Given the description of an element on the screen output the (x, y) to click on. 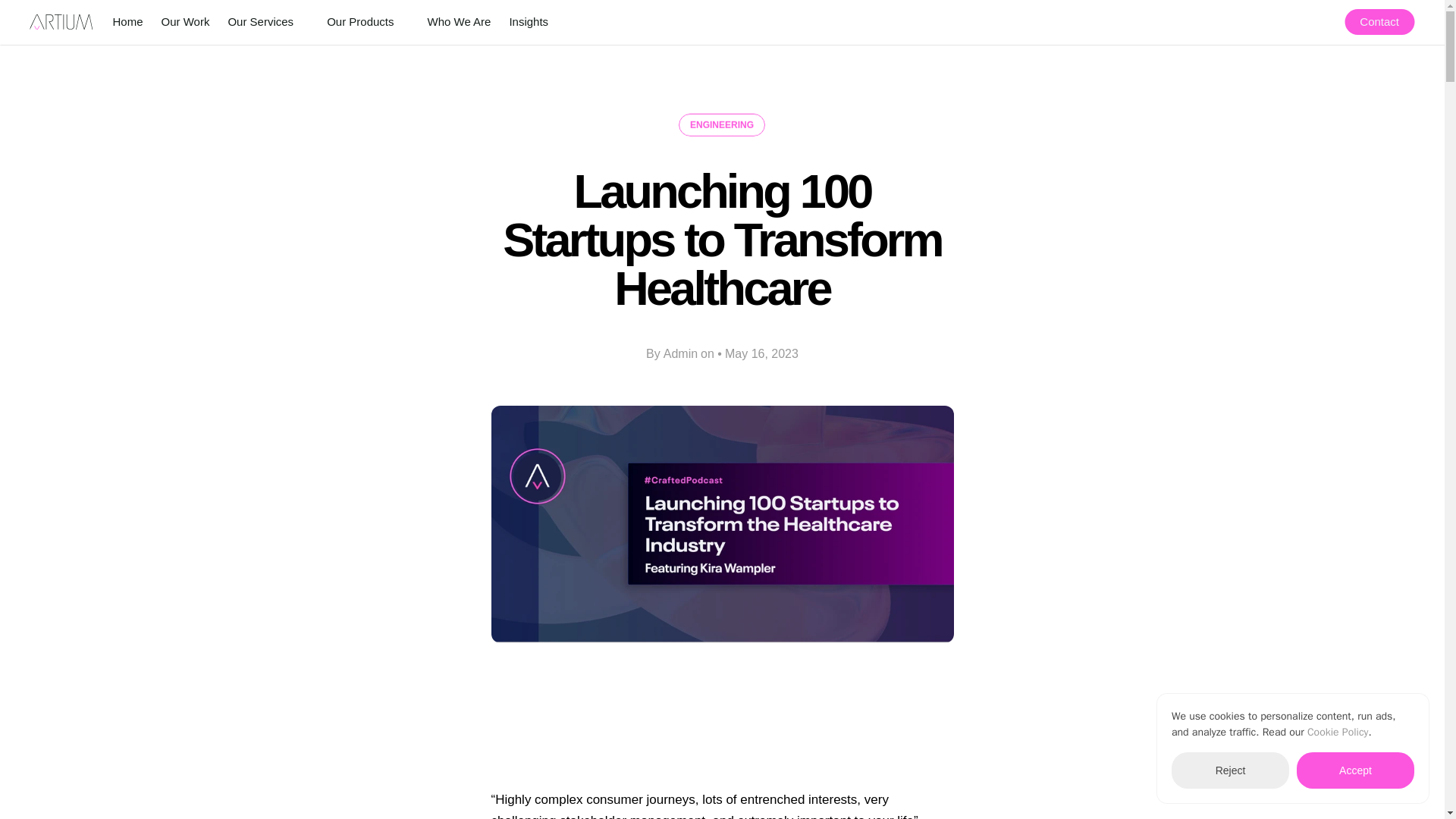
ENGINEERING (721, 124)
Contact (1378, 22)
Accept (1355, 770)
Home (127, 21)
Reject (1230, 770)
Insights (528, 21)
Who We Are (458, 21)
Cookie Policy (1337, 731)
Our Work (184, 21)
